Given the description of an element on the screen output the (x, y) to click on. 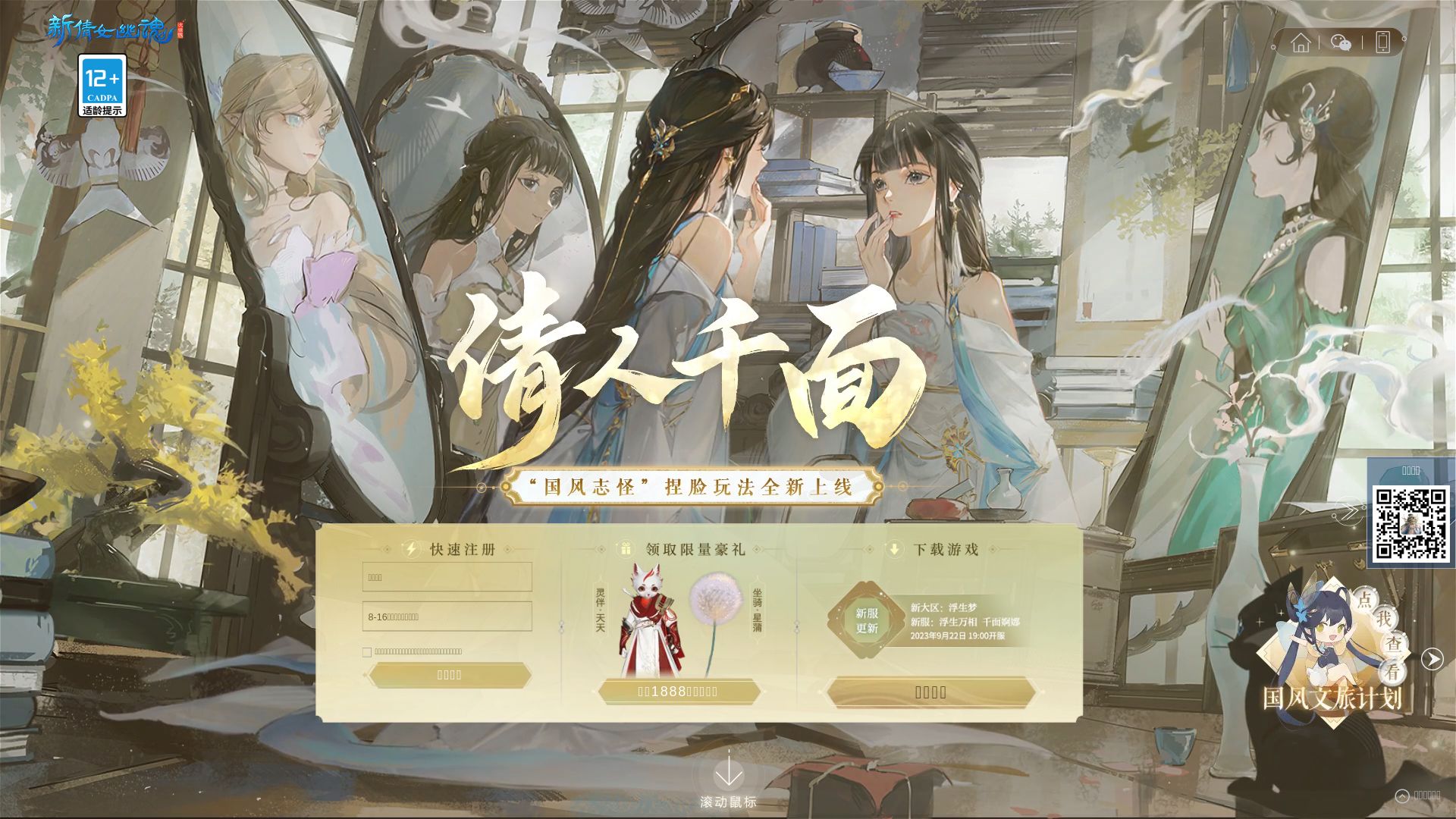
12+ Element type: hover (102, 85)
